Given the description of an element on the screen output the (x, y) to click on. 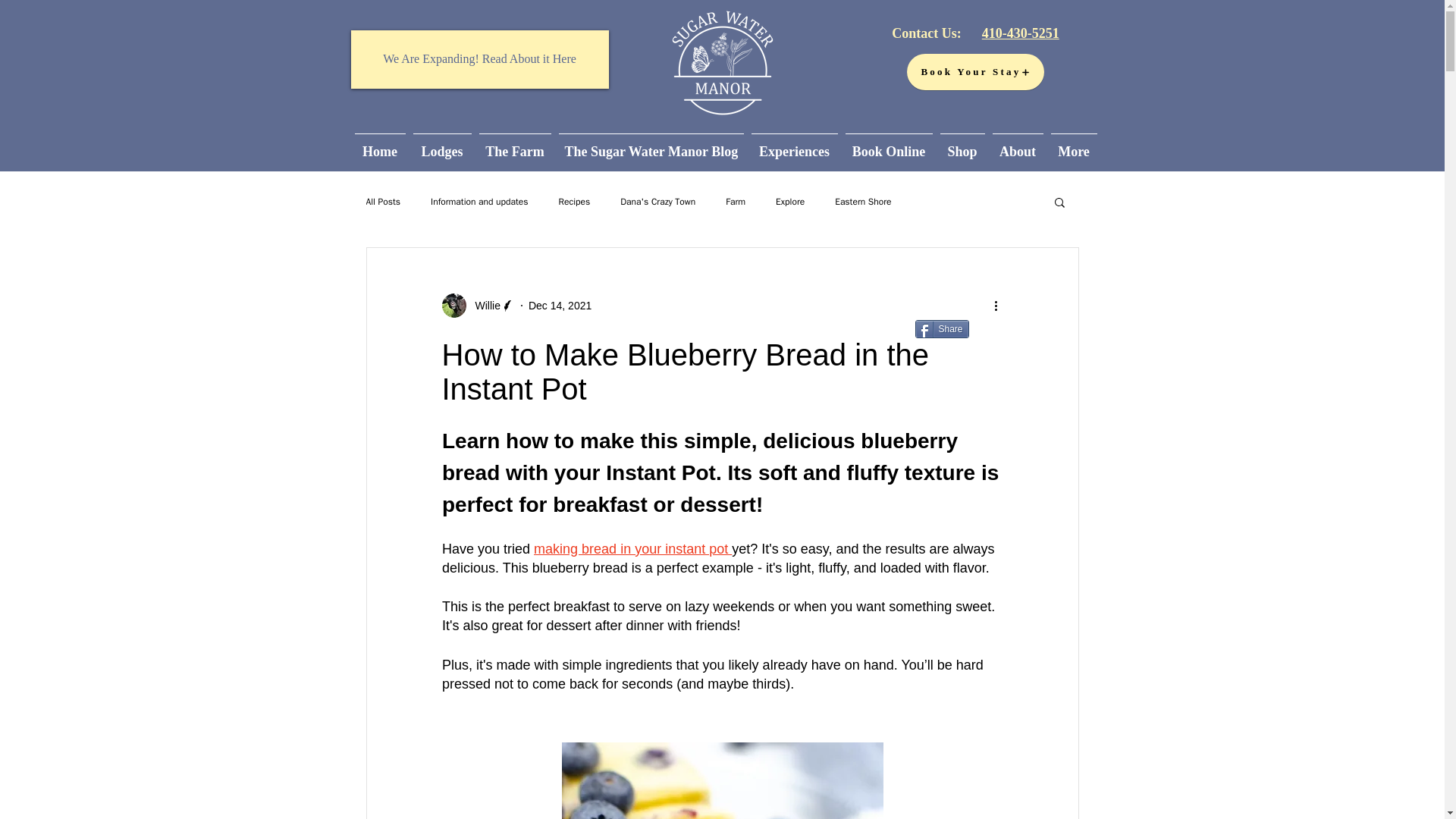
About (1017, 145)
making bread in your instant pot  (633, 548)
Twitter Tweet (1005, 328)
We Are Expanding! Read About it Here (479, 59)
Willie (477, 305)
The Farm (514, 145)
Dana's Crazy Town (657, 201)
Shop (962, 145)
410-430-5251 (1020, 32)
Dec 14, 2021 (559, 304)
